Given the description of an element on the screen output the (x, y) to click on. 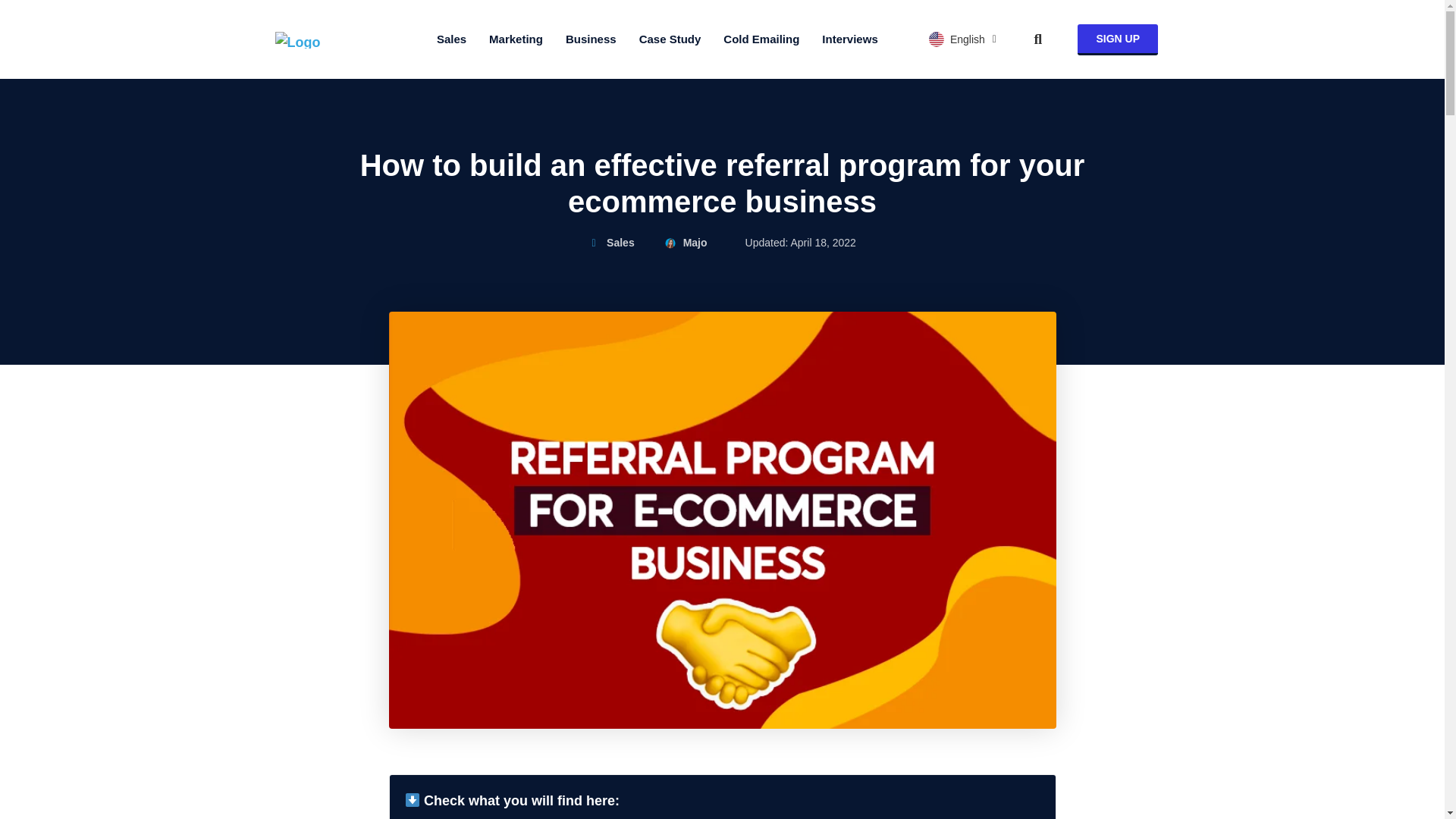
Sales (451, 39)
Sales (620, 242)
Interviews (849, 39)
Cold Emailing (760, 39)
Majo (686, 242)
Case Study (670, 39)
Marketing (515, 39)
English (963, 39)
SIGN UP (1117, 39)
Business (590, 39)
